Given the description of an element on the screen output the (x, y) to click on. 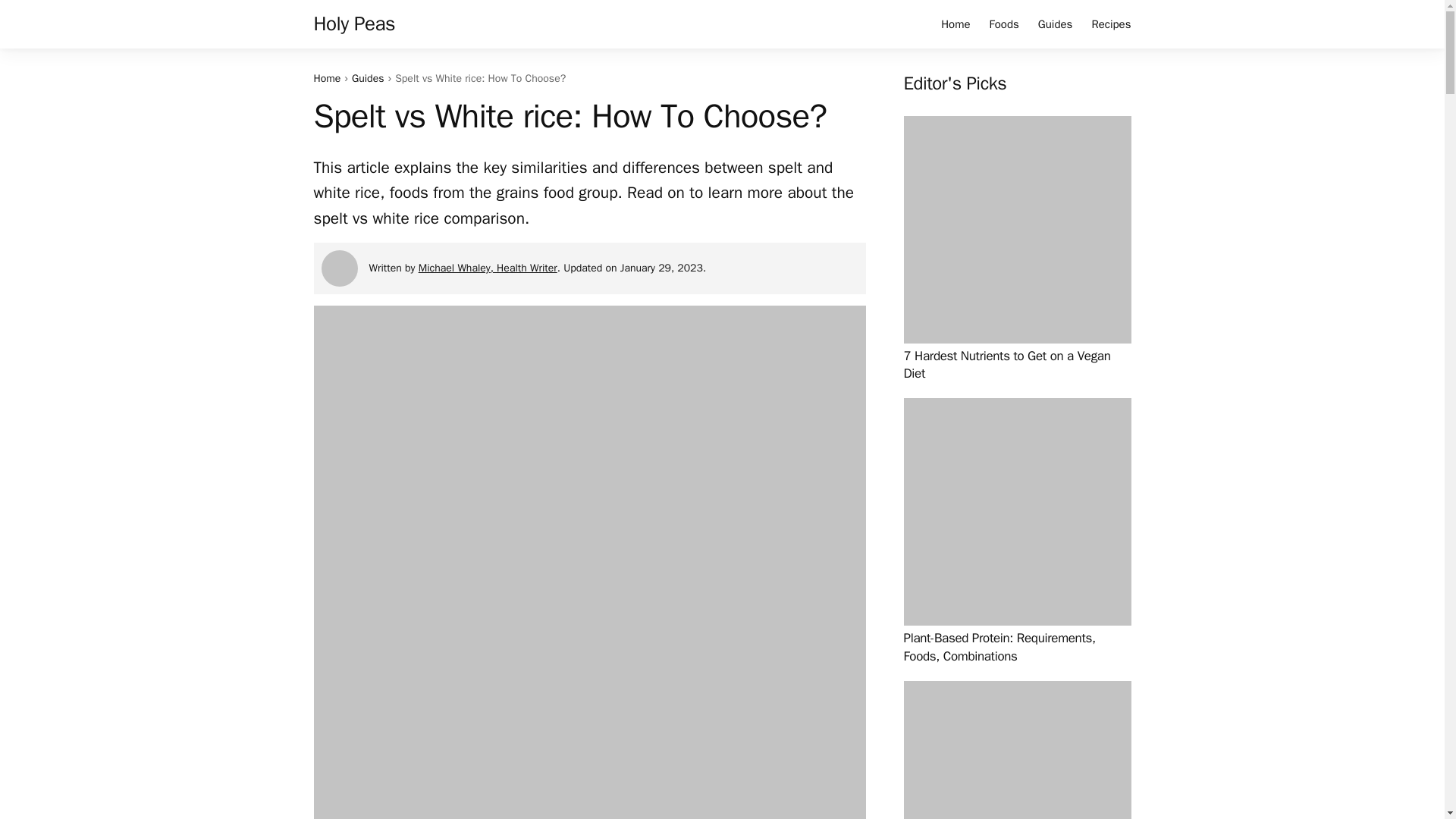
Holy Peas (355, 23)
Michael Whaley, Health Writer (488, 267)
Home (327, 78)
Foods (1004, 24)
Home (954, 24)
Guides (1055, 24)
Home (327, 78)
Guides (368, 78)
Guides (368, 78)
Recipes (1110, 24)
